Given the description of an element on the screen output the (x, y) to click on. 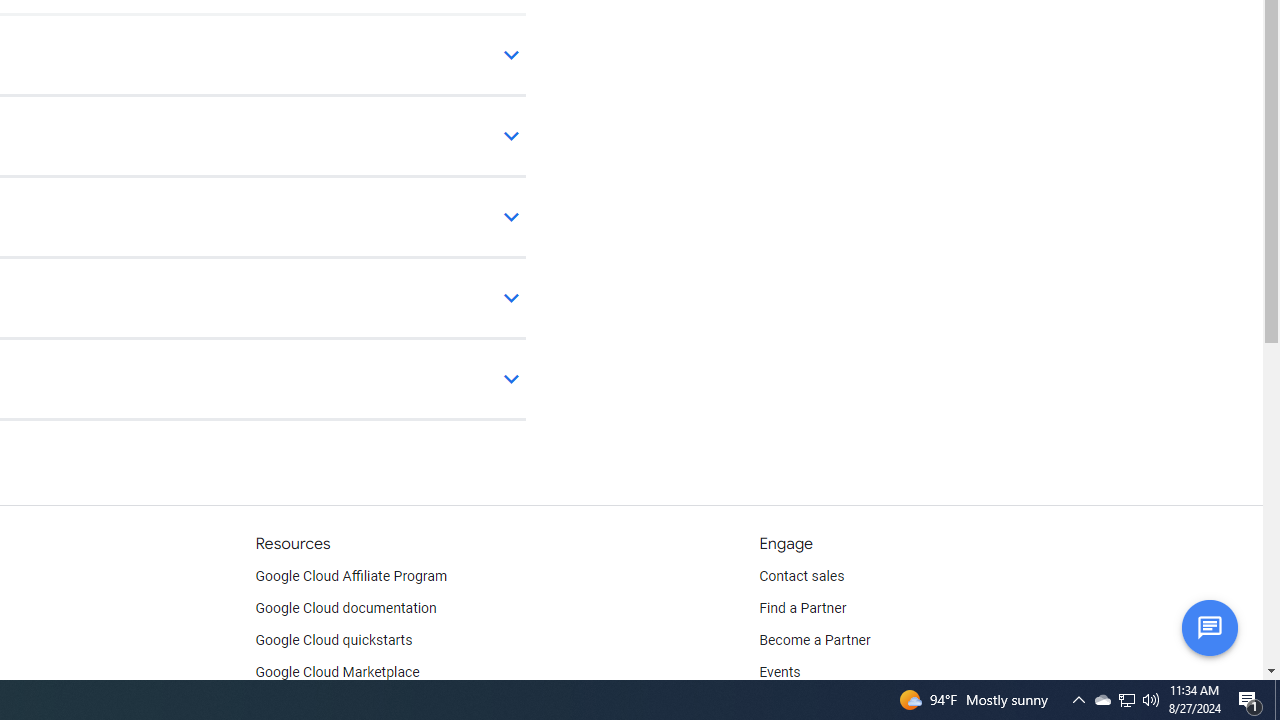
Google Cloud documentation (345, 608)
Contact sales (801, 576)
Events (780, 672)
Button to activate chat (1209, 627)
Find a Partner (803, 608)
Google Cloud Affiliate Program (351, 576)
Google Cloud quickstarts (333, 640)
Google Cloud Marketplace (336, 672)
Become a Partner (814, 640)
